Given the description of an element on the screen output the (x, y) to click on. 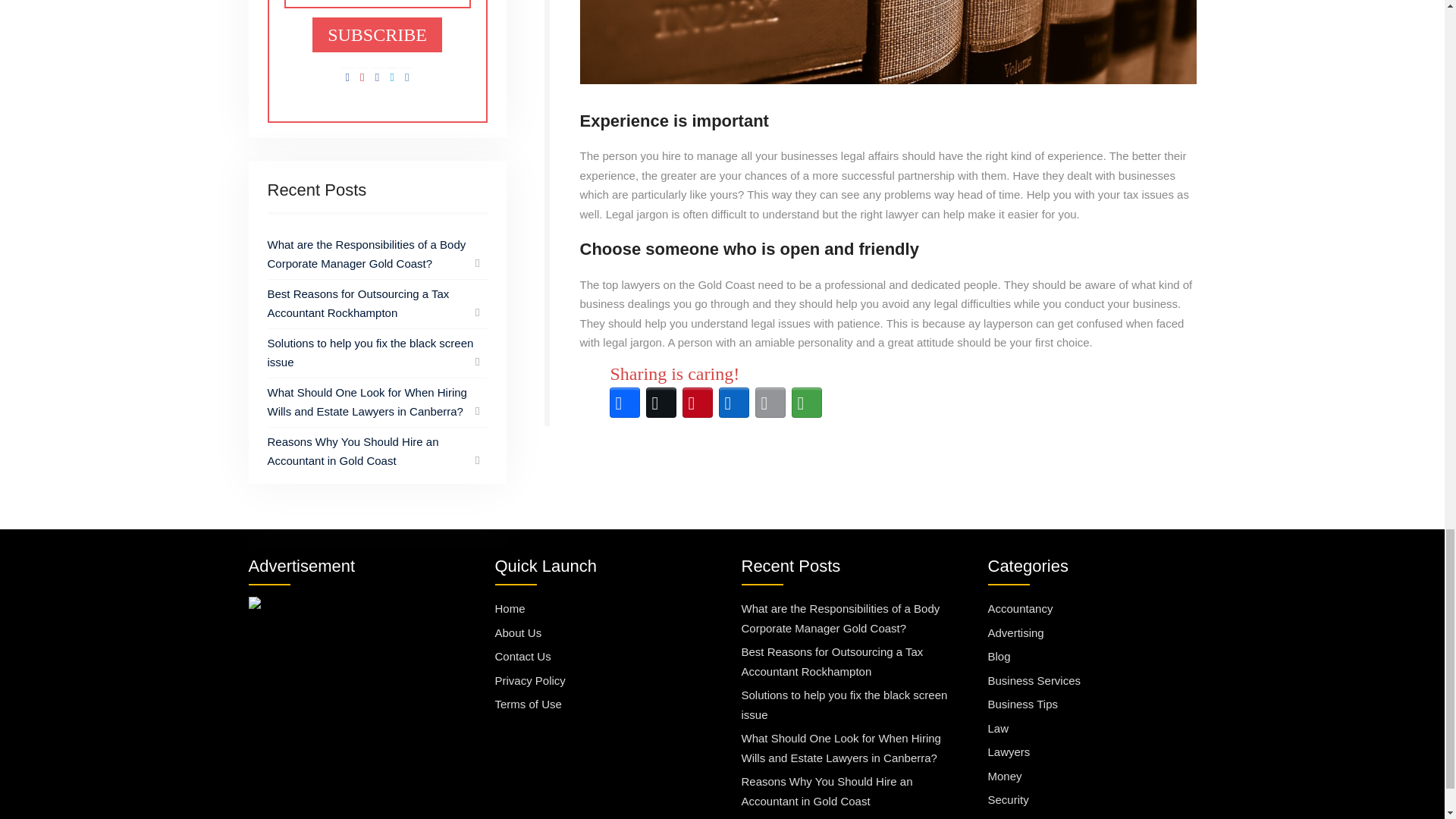
More Options (807, 402)
Email This (770, 402)
Pinterest (697, 402)
Facebook (625, 402)
LinkedIn (734, 402)
